Given the description of an element on the screen output the (x, y) to click on. 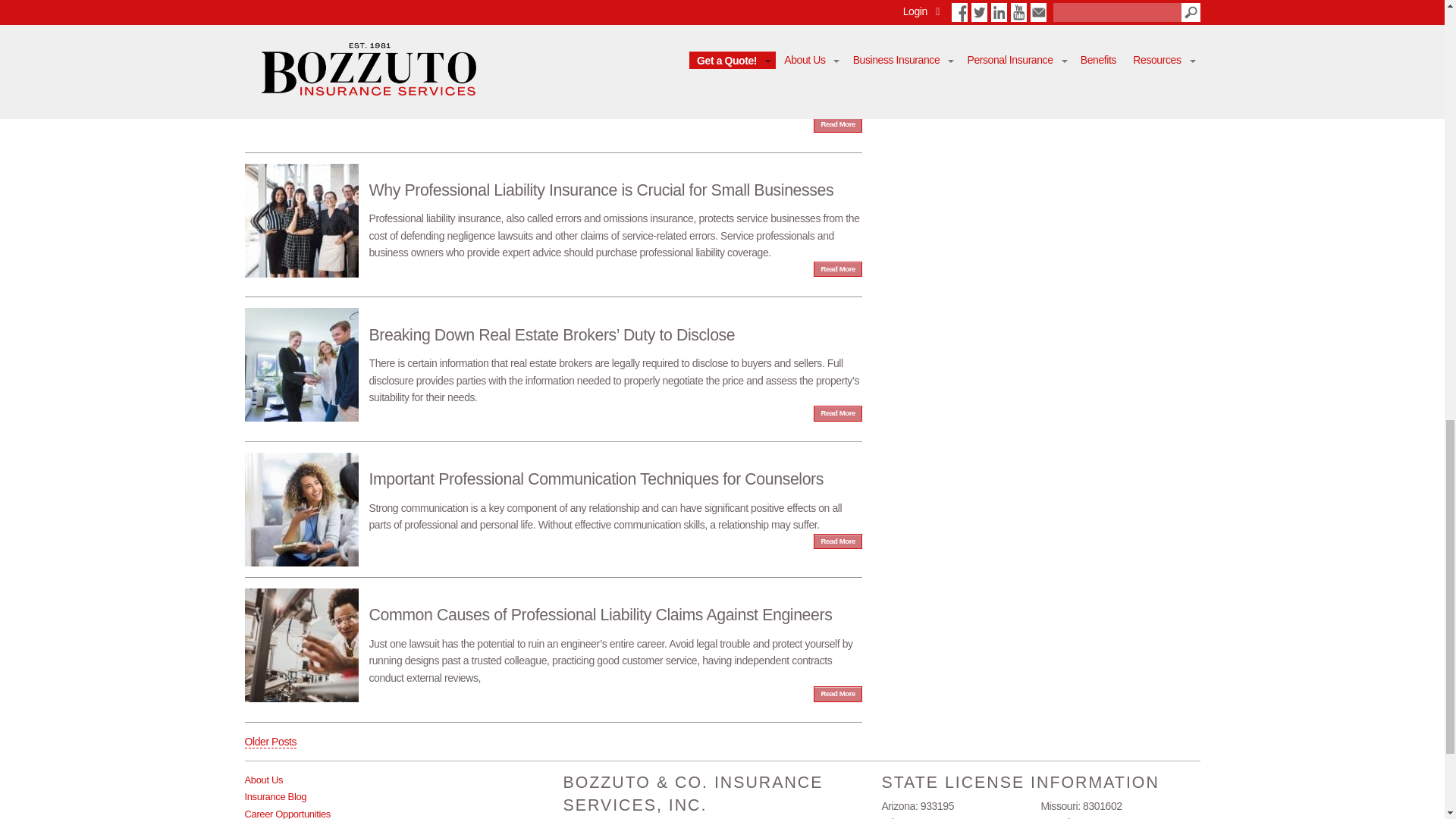
Read the full article... (552, 212)
Read the full article... (552, 356)
Read the full article... (552, 492)
Read the full article... (552, 58)
Read the full article... (552, 637)
